Given the description of an element on the screen output the (x, y) to click on. 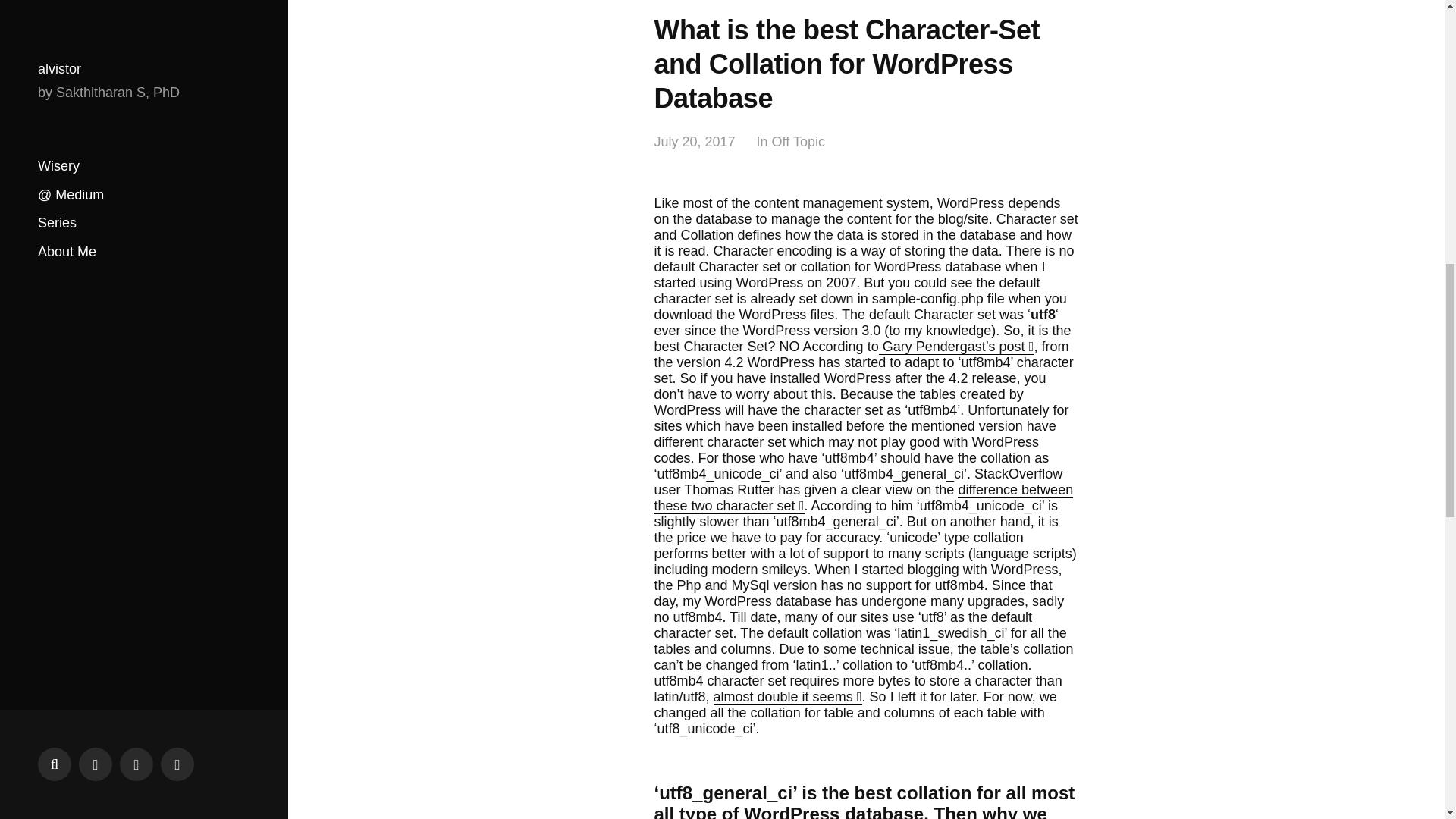
almost double it seems (787, 697)
difference between these two character set (863, 498)
Off Topic (798, 141)
July 20, 2017 (694, 141)
